Given the description of an element on the screen output the (x, y) to click on. 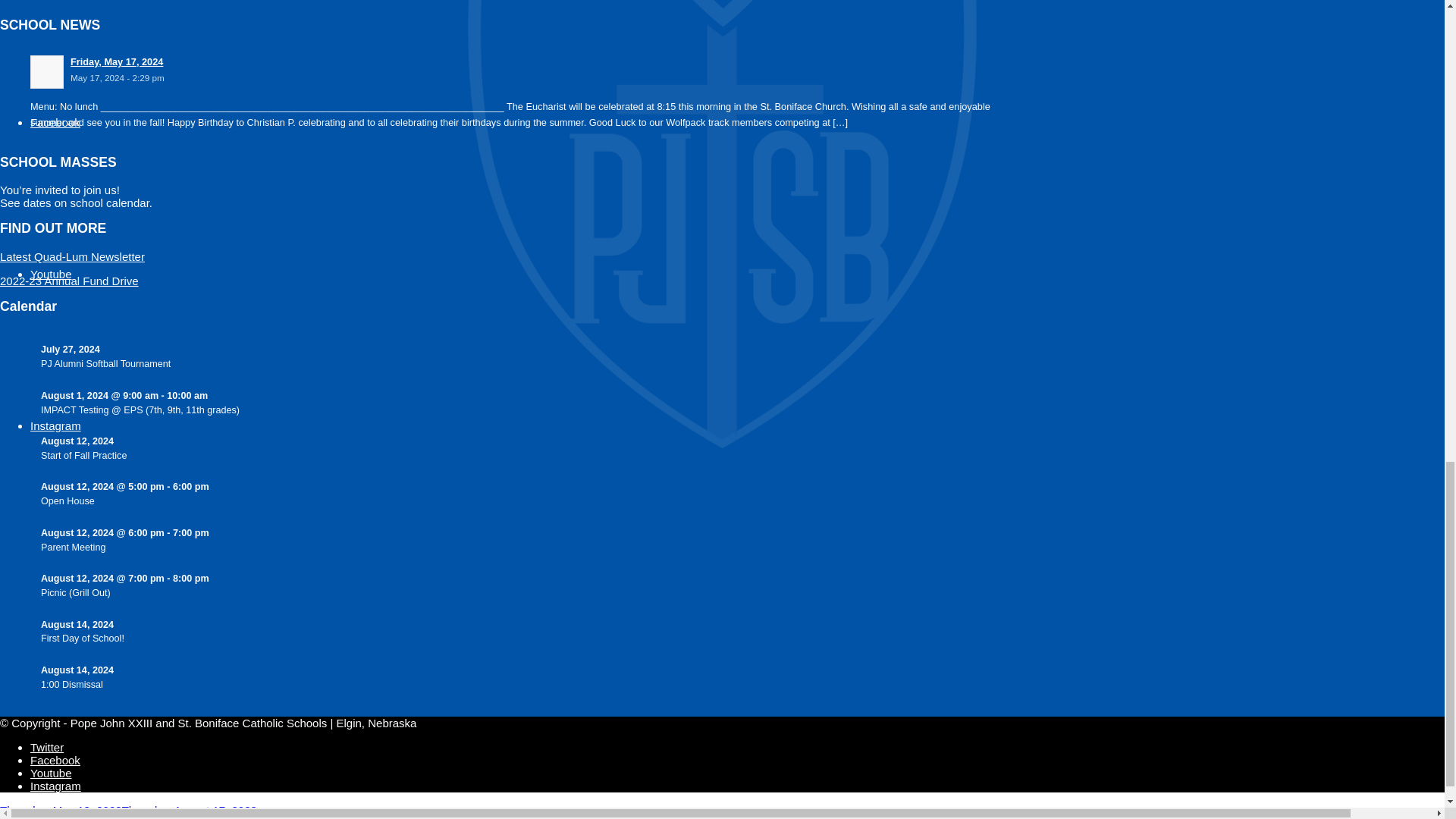
Facebook (55, 122)
Instagram (55, 425)
Youtube (50, 273)
Instagram (55, 425)
Youtube (50, 273)
Facebook (55, 122)
